Given the description of an element on the screen output the (x, y) to click on. 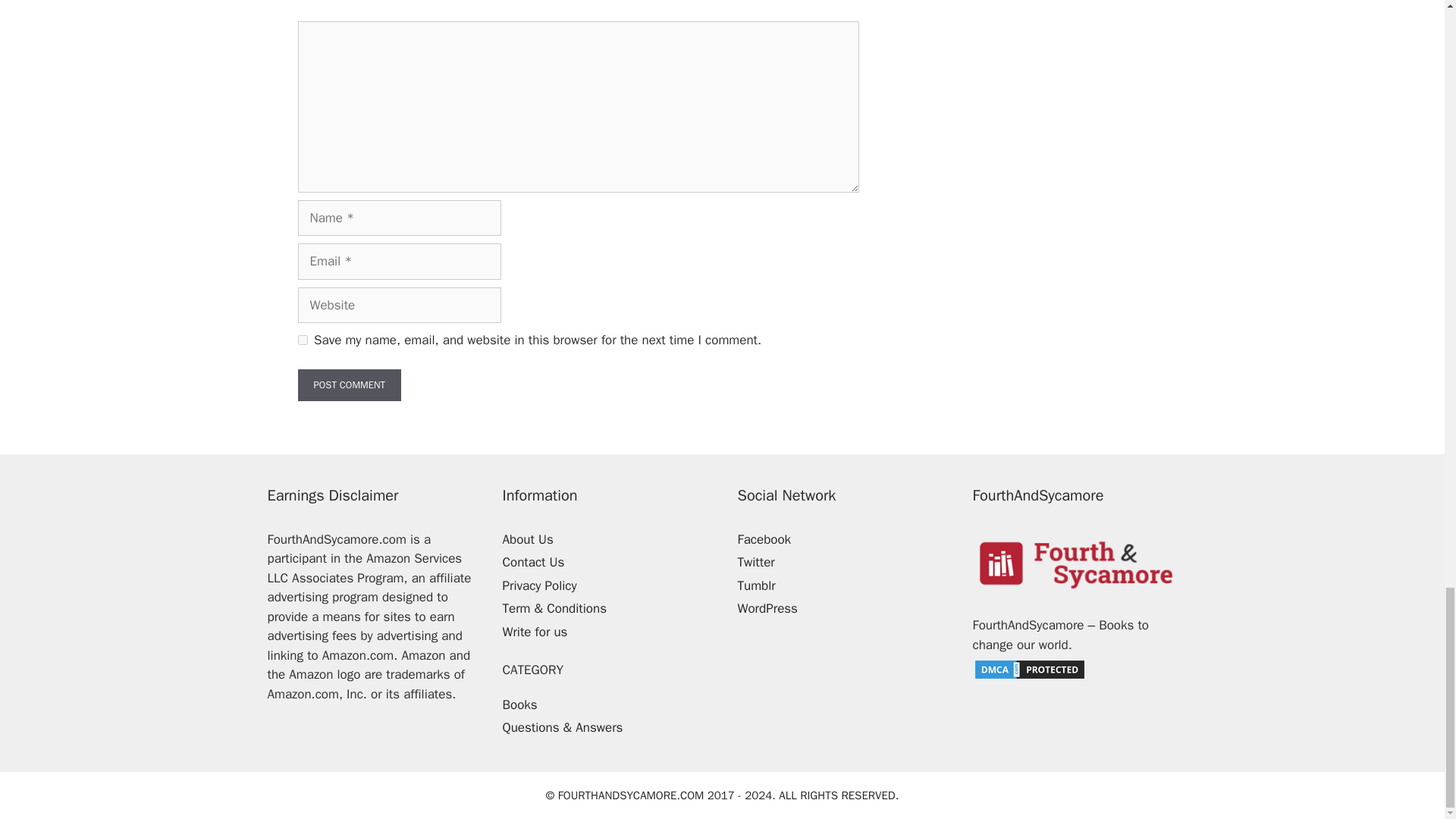
DMCA.com Protection Status (1029, 676)
yes (302, 339)
Post Comment (349, 385)
